Given the description of an element on the screen output the (x, y) to click on. 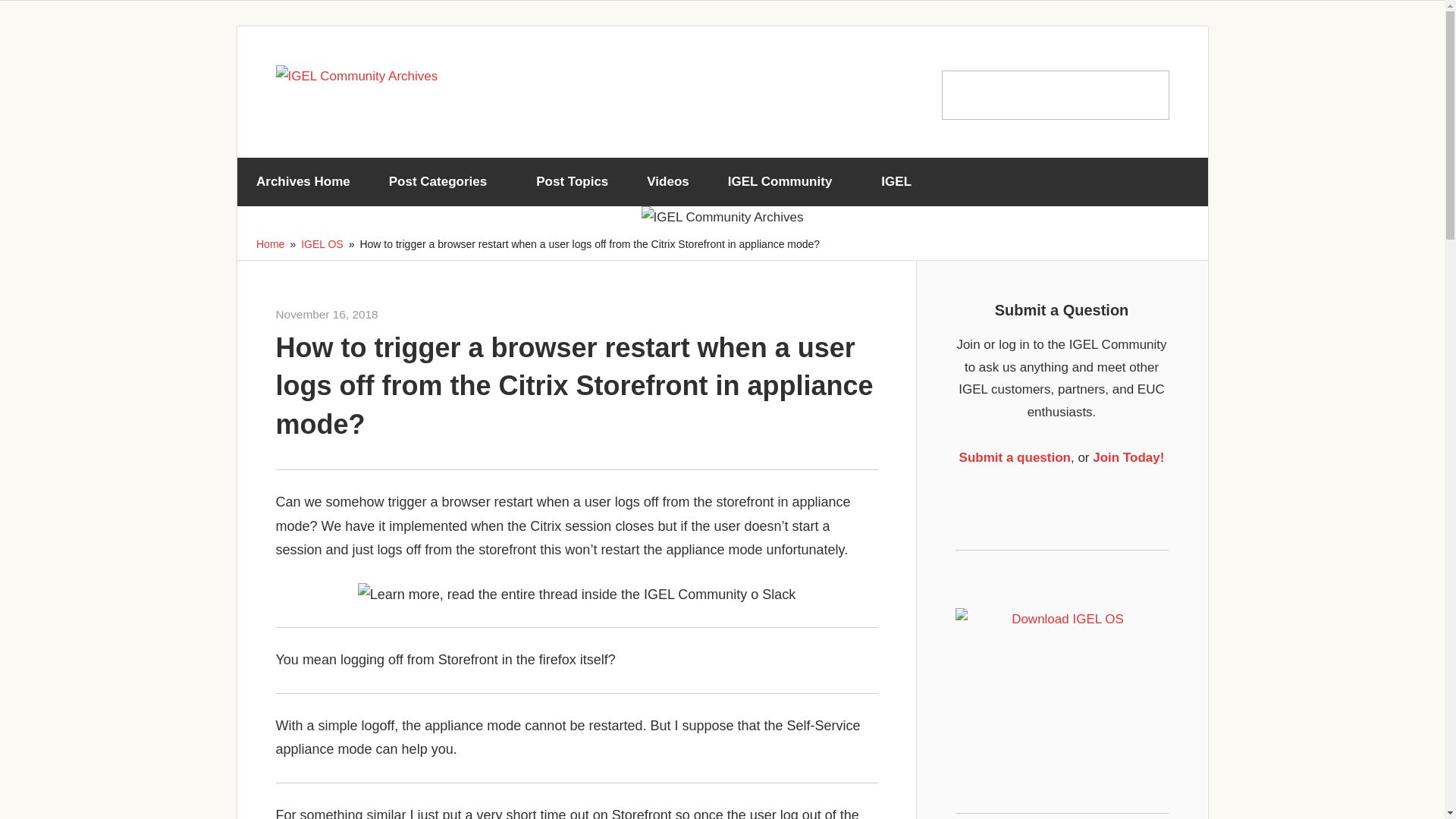
Post Categories (442, 182)
November 16, 2018 (327, 314)
IGEL Community (784, 182)
Download IGEL OS (1062, 670)
10:08 am (327, 314)
IGEL OS (322, 244)
IGEL (901, 182)
View all posts by IGEL Community Archives (440, 313)
Videos (667, 182)
Home (269, 244)
